Given the description of an element on the screen output the (x, y) to click on. 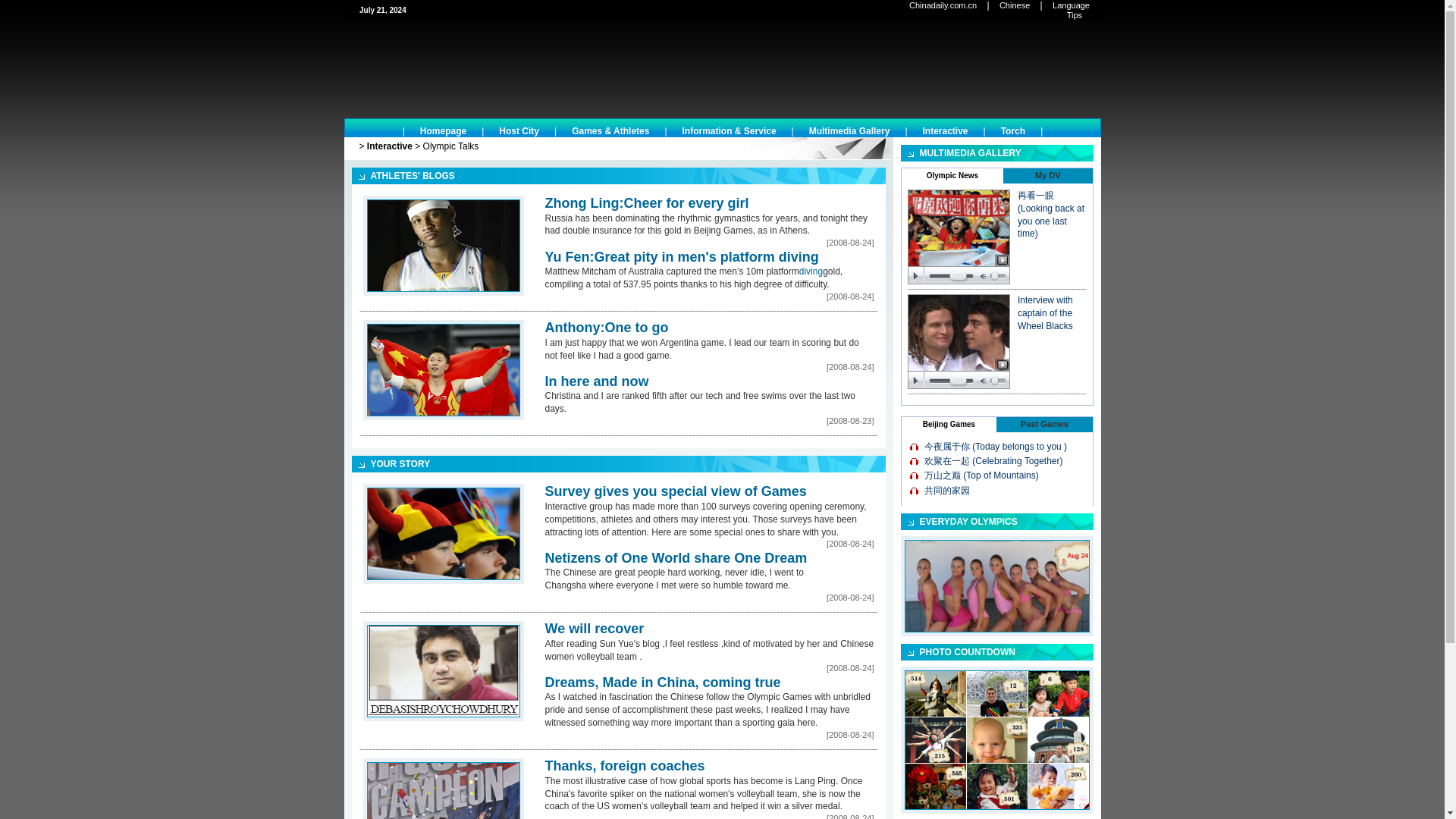
Netizens of One World share One Dream (675, 557)
Thanks, foreign coaches (624, 765)
YOUR STORY (399, 463)
PHOTO COUNTDOWN (966, 652)
EVERYDAY OLYMPICS (967, 521)
Zhong Ling:Cheer for every girl (646, 202)
Yu Fen:Great pity in men's platform diving (681, 256)
MULTIMEDIA GALLERY (969, 153)
diving (810, 271)
Survey gives you special view of Games (675, 491)
ATHLETES' BLOGS (411, 175)
We will recover (593, 628)
Dreams, Made in China, coming true (662, 682)
In here and now (595, 381)
Anthony:One to go (606, 327)
